Given the description of an element on the screen output the (x, y) to click on. 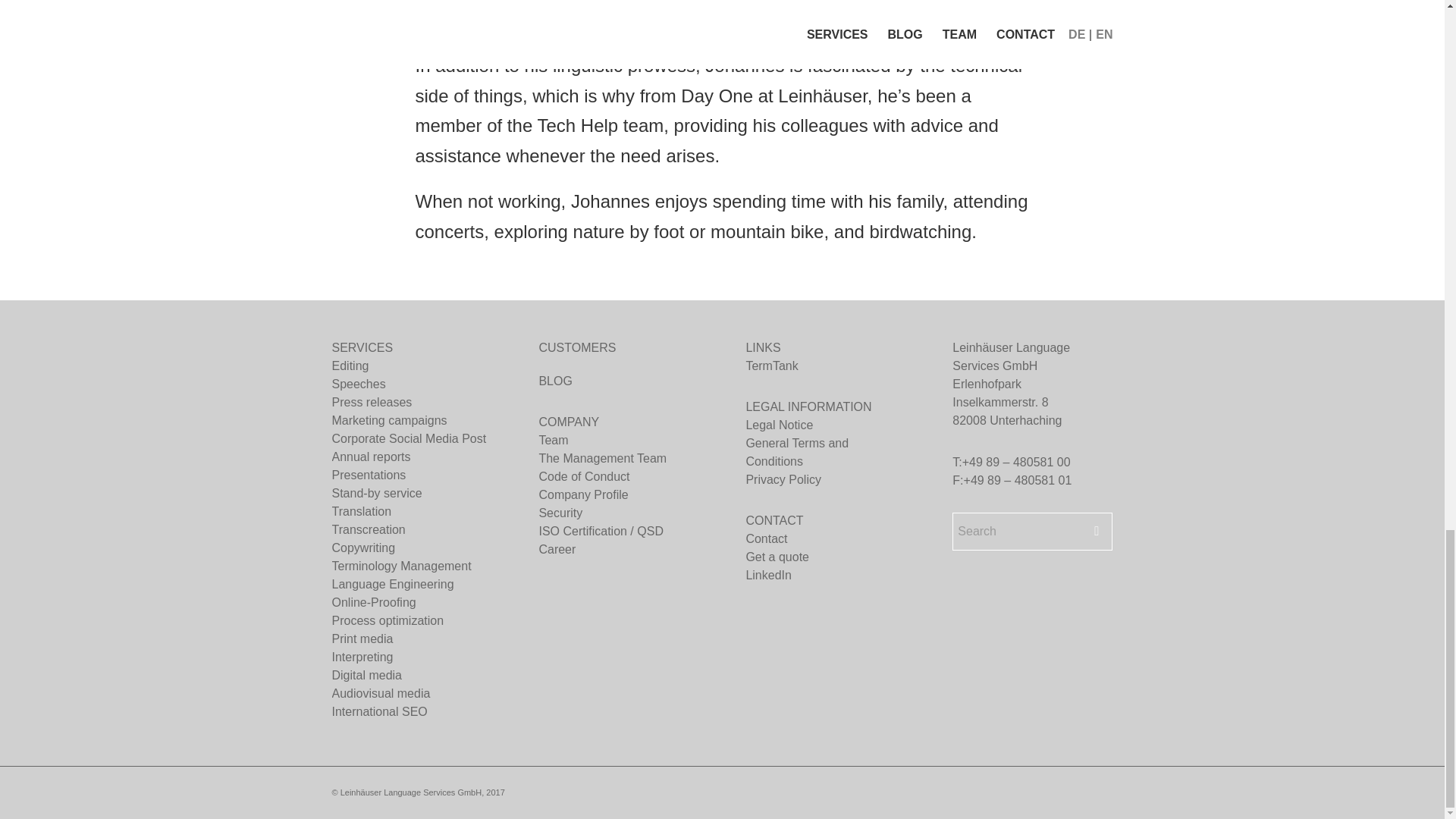
Career (618, 549)
The Management Team (618, 458)
CUSTOMERS (576, 347)
Press releases (411, 402)
Interpreting (411, 657)
Marketing campaigns (411, 420)
Corporate Social Media Post (411, 438)
Annual reports (411, 456)
Code of Conduct (618, 476)
Company Profile (618, 495)
